Given the description of an element on the screen output the (x, y) to click on. 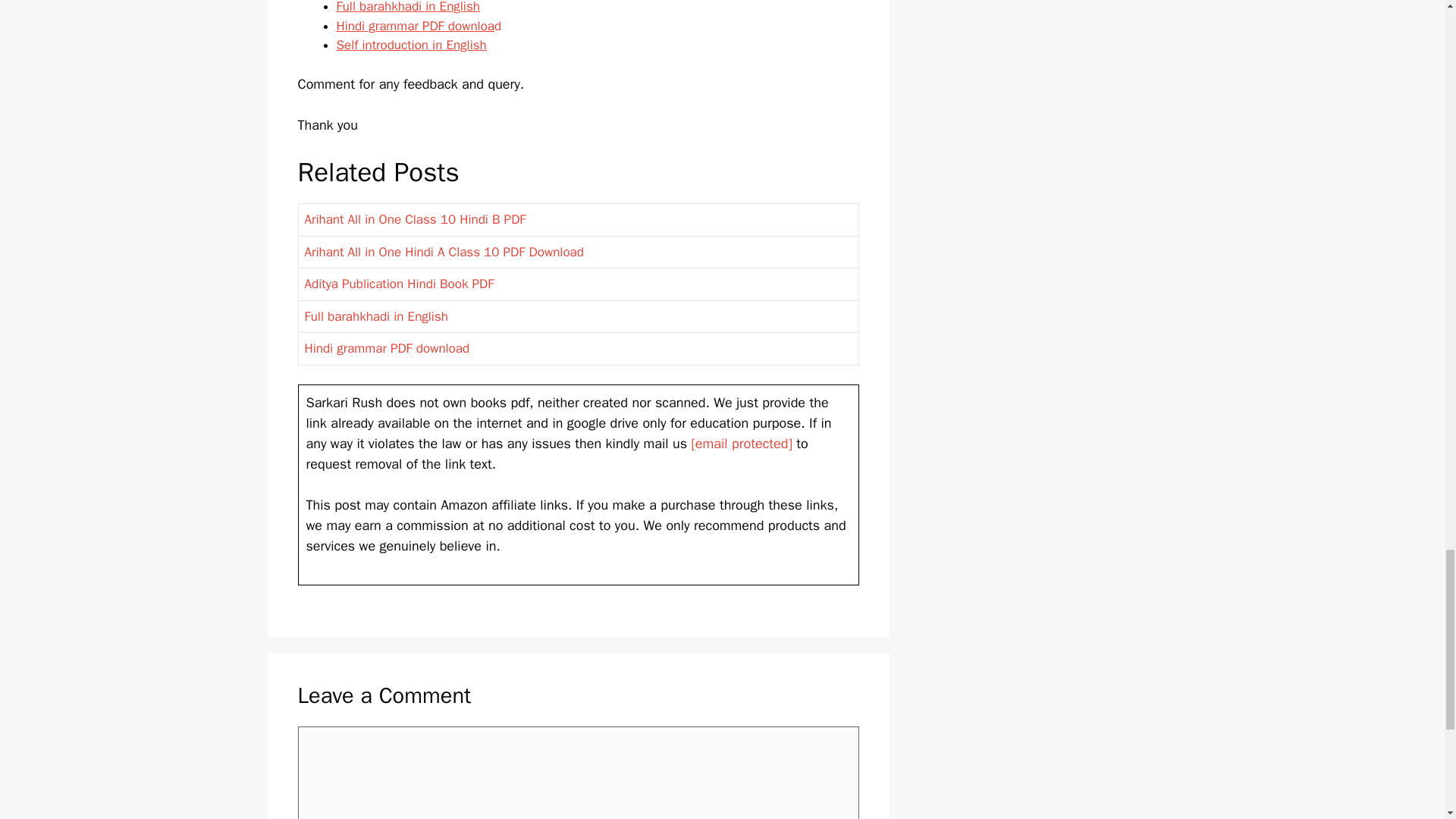
Arihant All in One Class 10 Hindi B PDF (414, 219)
Arihant All in One Hindi A Class 10 PDF Download (443, 252)
Hindi grammar PDF download (419, 26)
Self introduction in English (411, 44)
Full barahkhadi in English (376, 316)
Aditya Publication Hindi Book PDF (399, 283)
Hindi grammar PDF download (387, 348)
Full barahkhadi in English (408, 7)
